Given the description of an element on the screen output the (x, y) to click on. 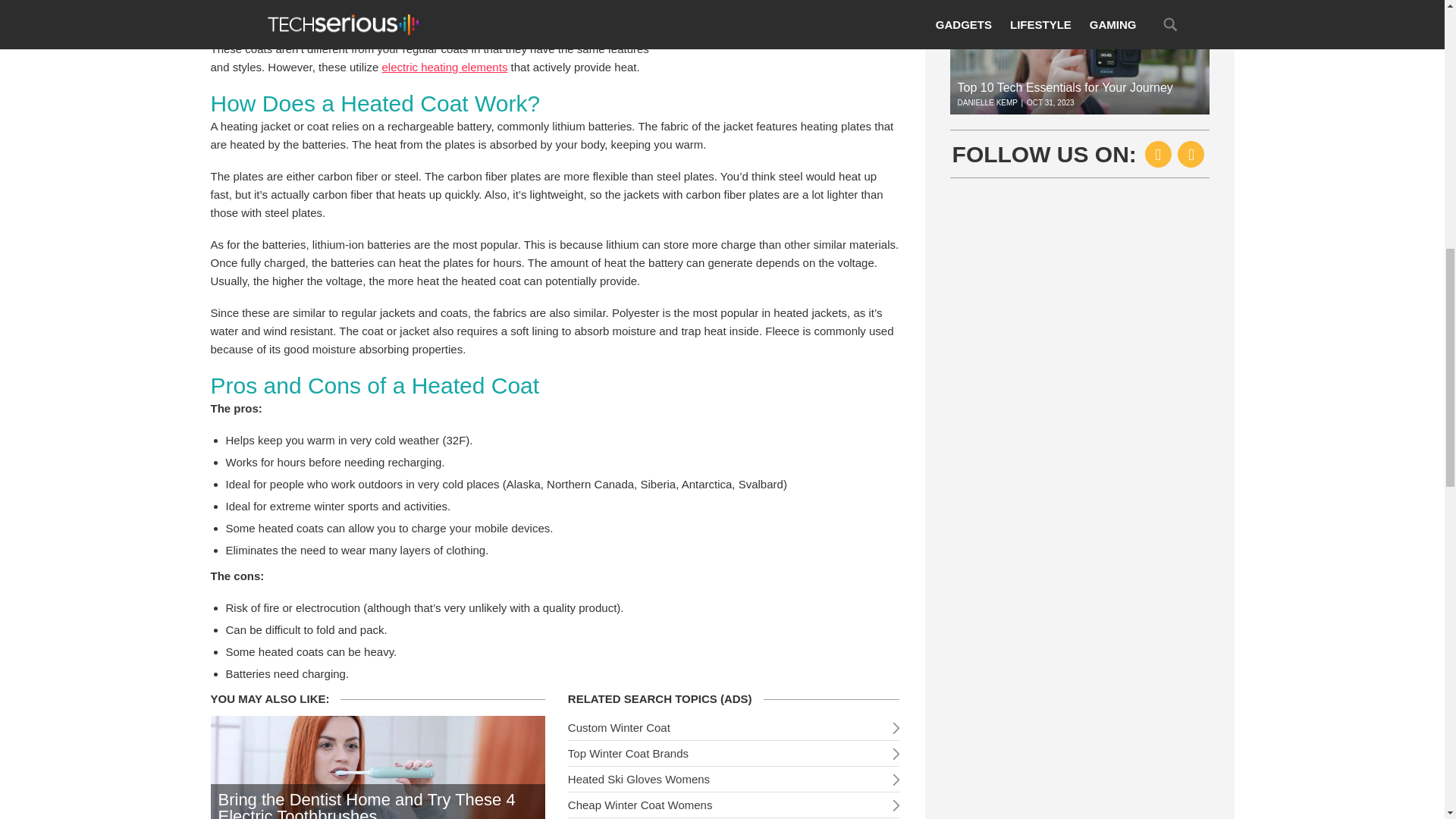
Advertisement (785, 43)
